Given the description of an element on the screen output the (x, y) to click on. 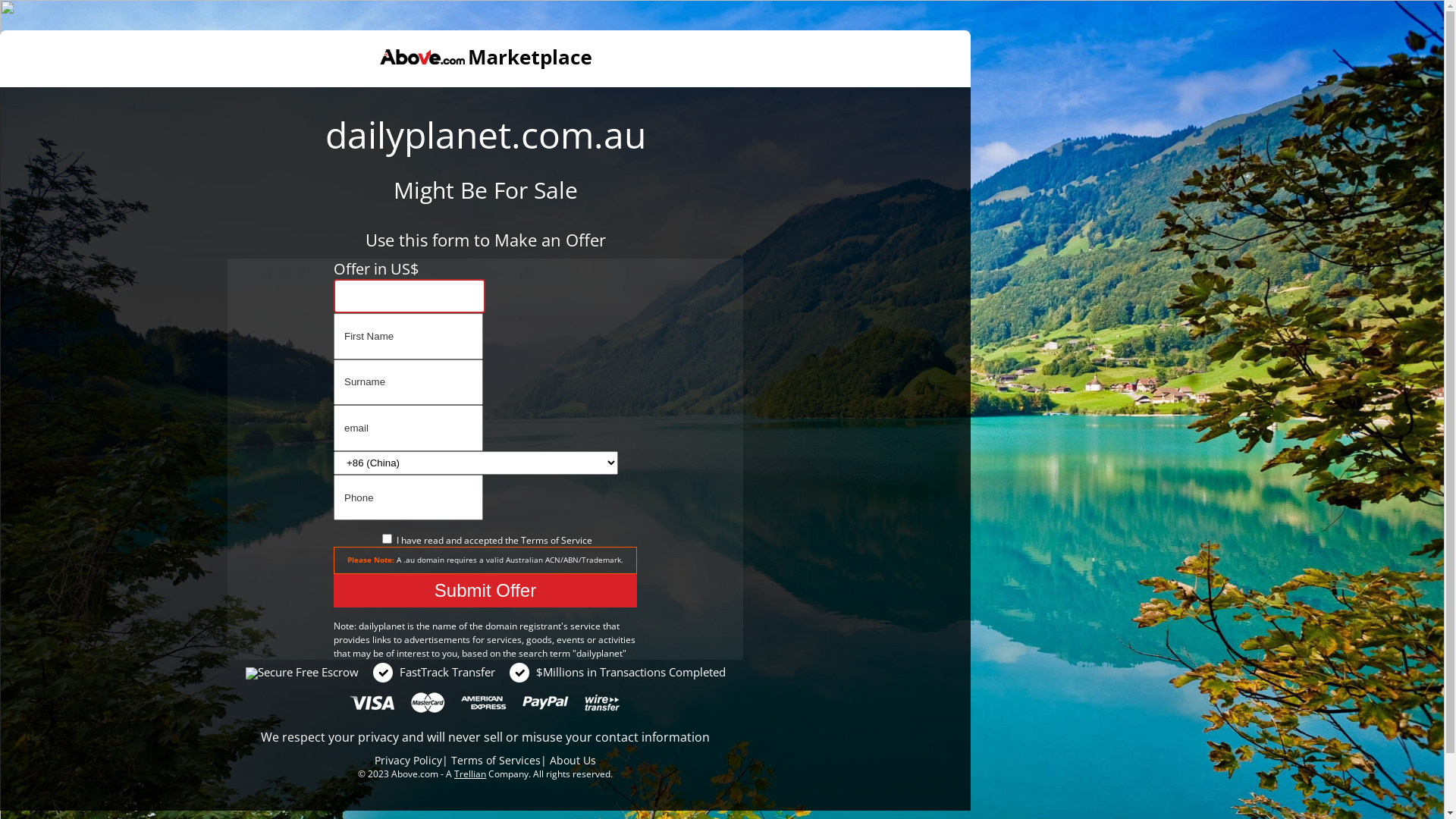
Terms of Services Element type: text (495, 760)
Trellian Element type: text (470, 773)
Privacy Policy Element type: text (408, 760)
Submit Offer Element type: text (485, 590)
Terms Element type: text (533, 539)
About Us Element type: text (572, 760)
